Given the description of an element on the screen output the (x, y) to click on. 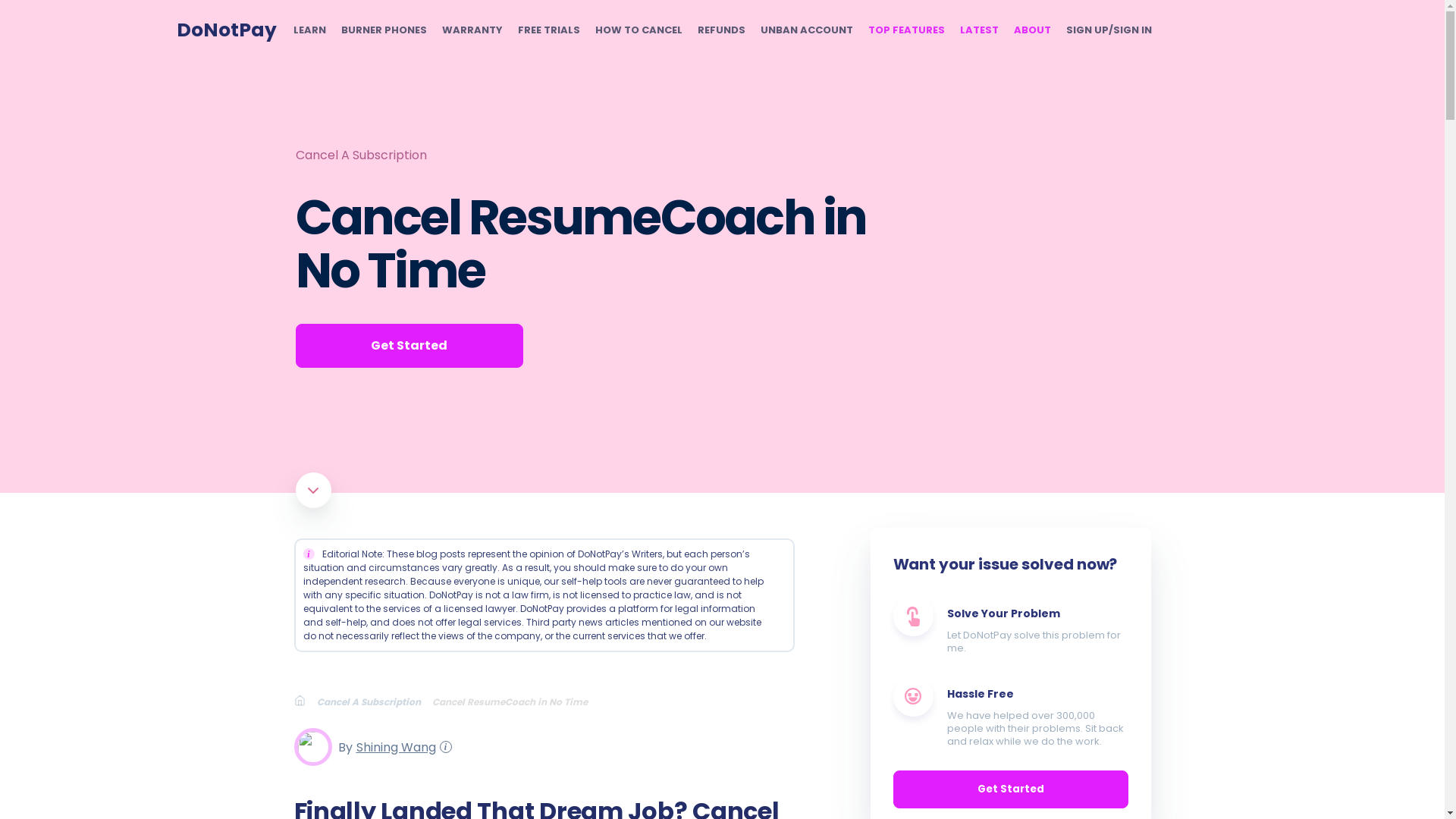
Shining Wang (393, 746)
DoNotPay (226, 29)
Cancel A Subscription (374, 700)
BURNER PHONES (383, 29)
Get Started (408, 345)
UNBAN ACCOUNT (805, 29)
FREE TRIALS (547, 29)
LEARN (308, 29)
REFUNDS (721, 29)
WARRANTY (471, 29)
ABOUT (1031, 29)
LATEST (978, 29)
TOP FEATURES (905, 29)
Cancel A Subscription (360, 154)
HOW TO CANCEL (637, 29)
